Given the description of an element on the screen output the (x, y) to click on. 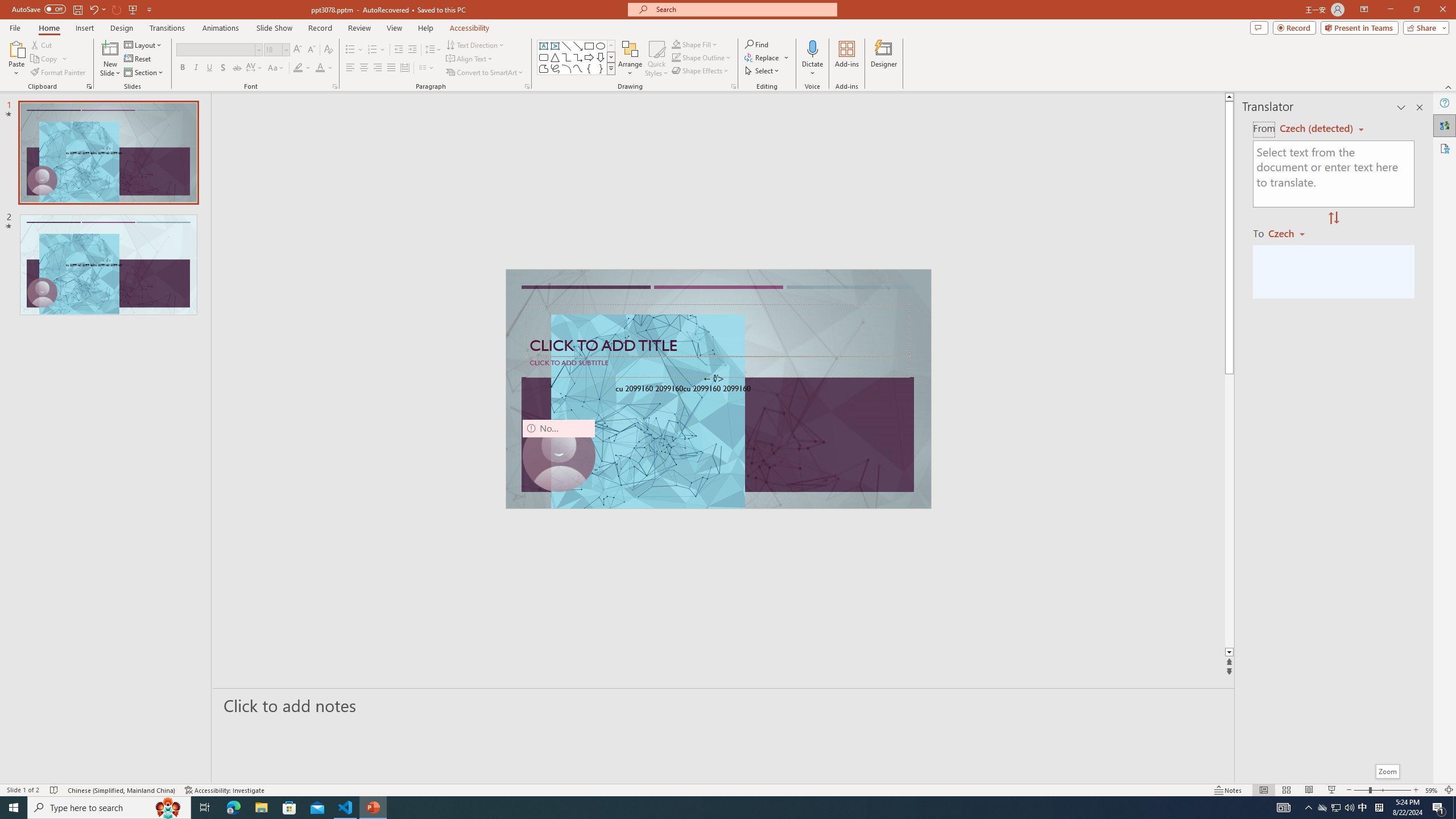
Czech (detected) (1317, 128)
